Given the description of an element on the screen output the (x, y) to click on. 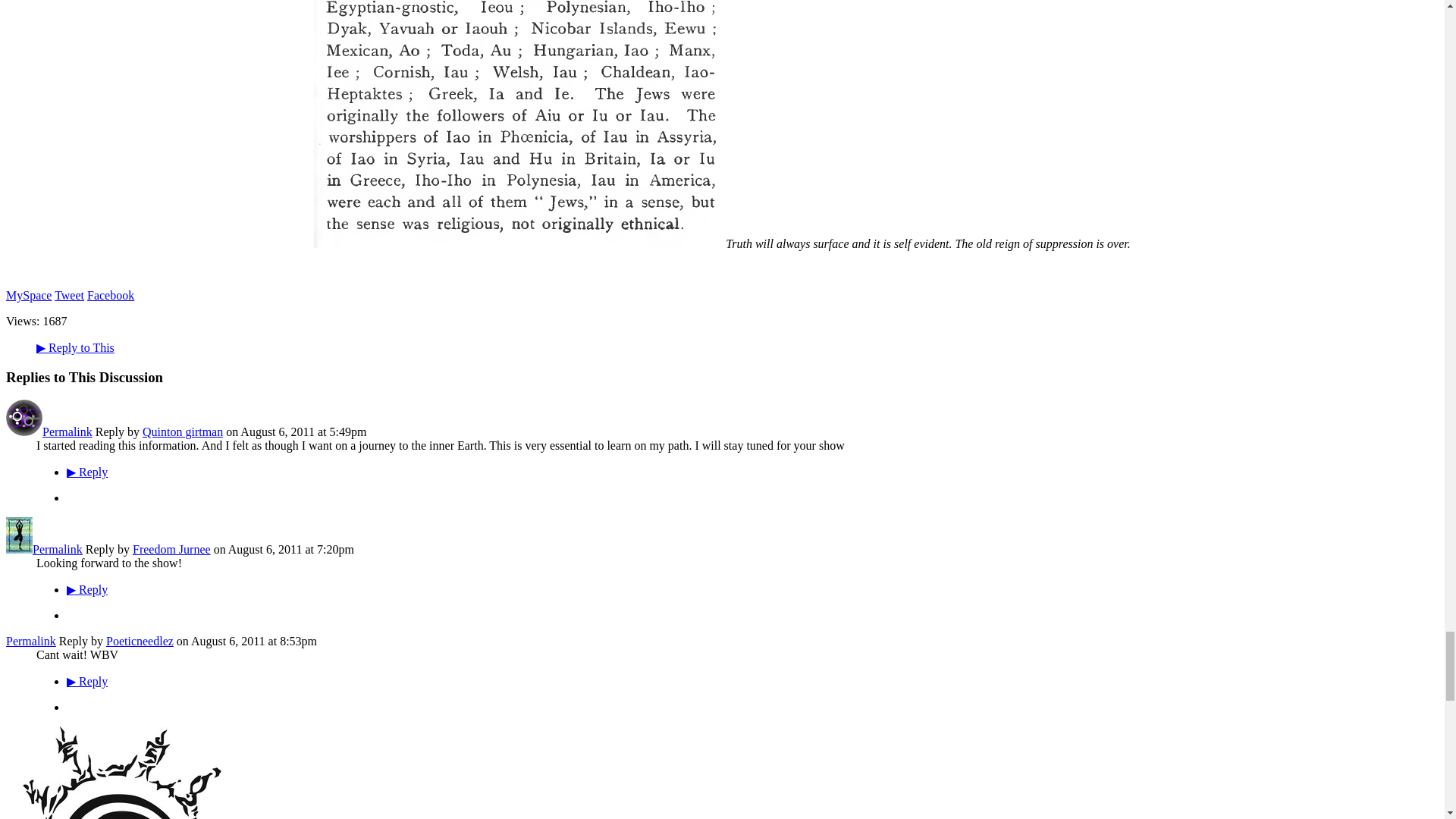
Permalink to this Reply (30, 640)
Permalink to this Reply (67, 431)
Permalink to this Reply (57, 549)
Freedom Jurnee (18, 549)
